Given the description of an element on the screen output the (x, y) to click on. 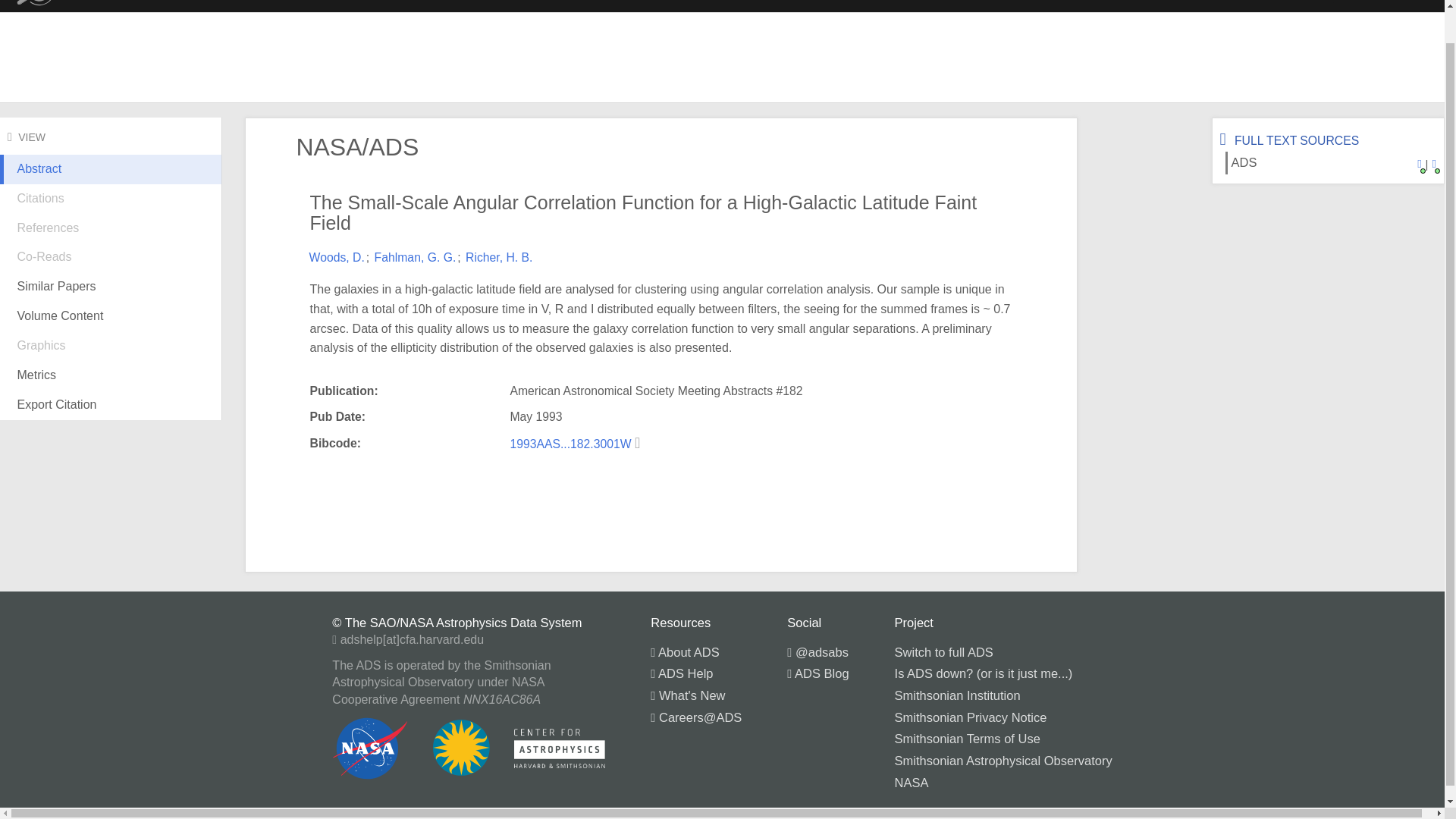
Enable full ADS (1388, 2)
ADS Help (681, 673)
Smithsonian Terms of Use (968, 738)
Smithsonian Privacy Notice (970, 716)
Abstract (110, 181)
Smithsonian Institution (957, 694)
Smithsonian Astrophysical Observatory (1003, 760)
Volume Content (110, 316)
What's New (687, 694)
About ADS (684, 652)
